Given the description of an element on the screen output the (x, y) to click on. 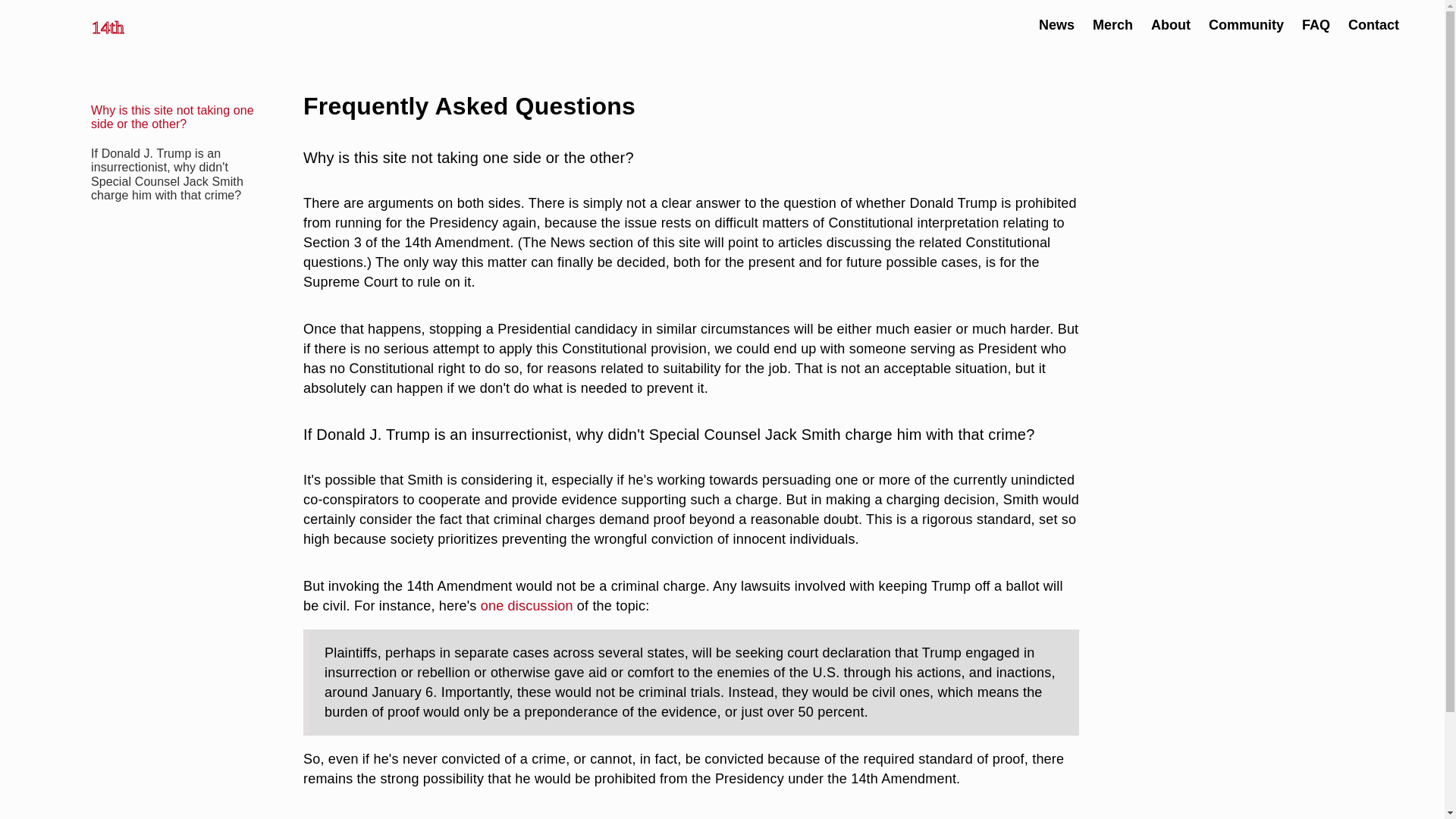
About (1171, 24)
FAQ (1315, 24)
Contact (1373, 24)
Why is this site not taking one side or the other? (171, 117)
one discussion (526, 605)
News (1056, 24)
Merch (1112, 24)
Community (1246, 24)
